Given the description of an element on the screen output the (x, y) to click on. 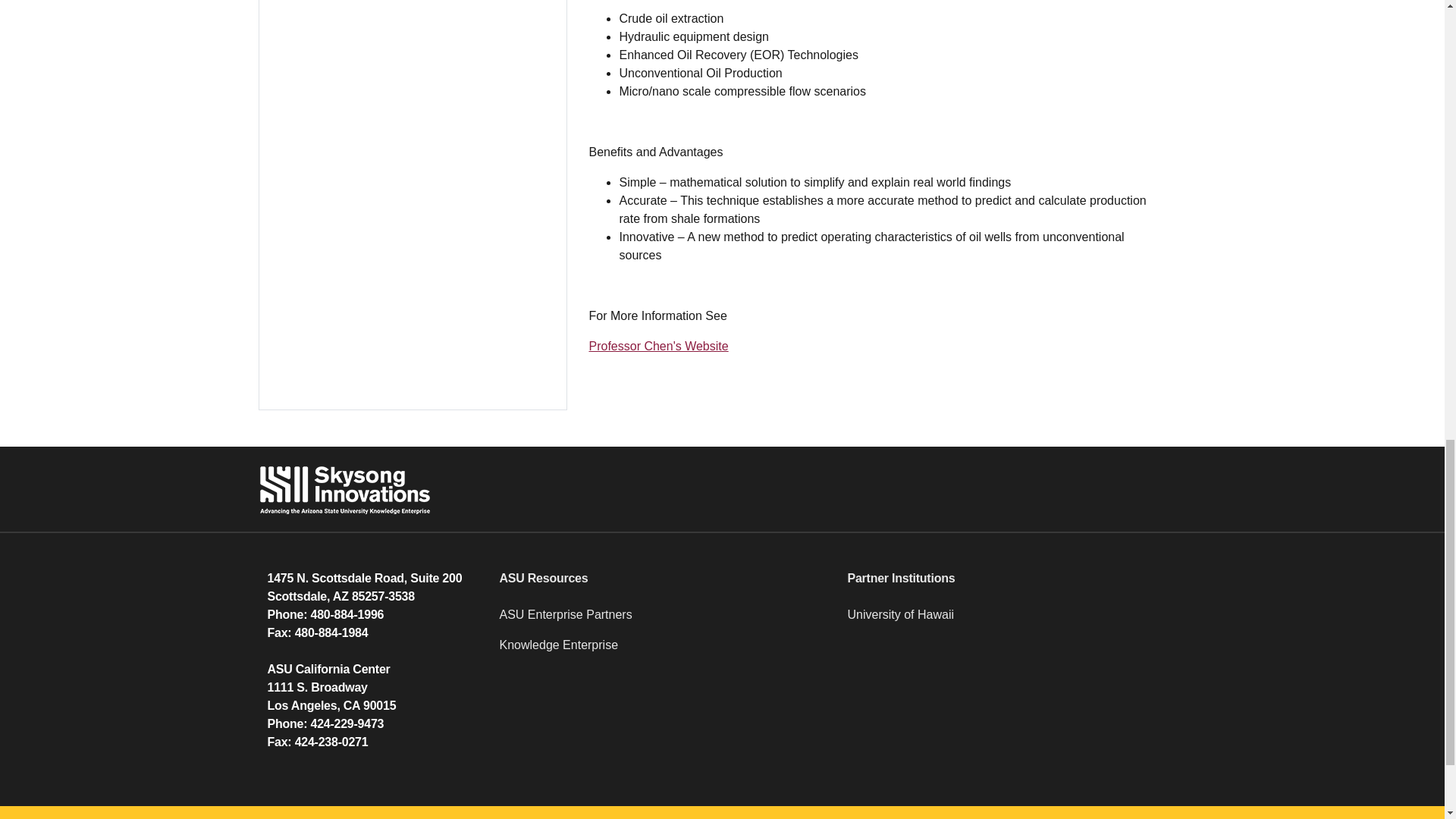
Knowledge Enterprise (663, 651)
ASU Resources (663, 578)
University of Hawaii (1012, 621)
Professor Chen's Website (658, 345)
University of Hawaii   (1012, 621)
ASU Enterprise Partners (663, 621)
Partner Institutions (1012, 578)
ASU Enterprise Partners   (663, 621)
Knowledge Enterprise   (663, 651)
